Given the description of an element on the screen output the (x, y) to click on. 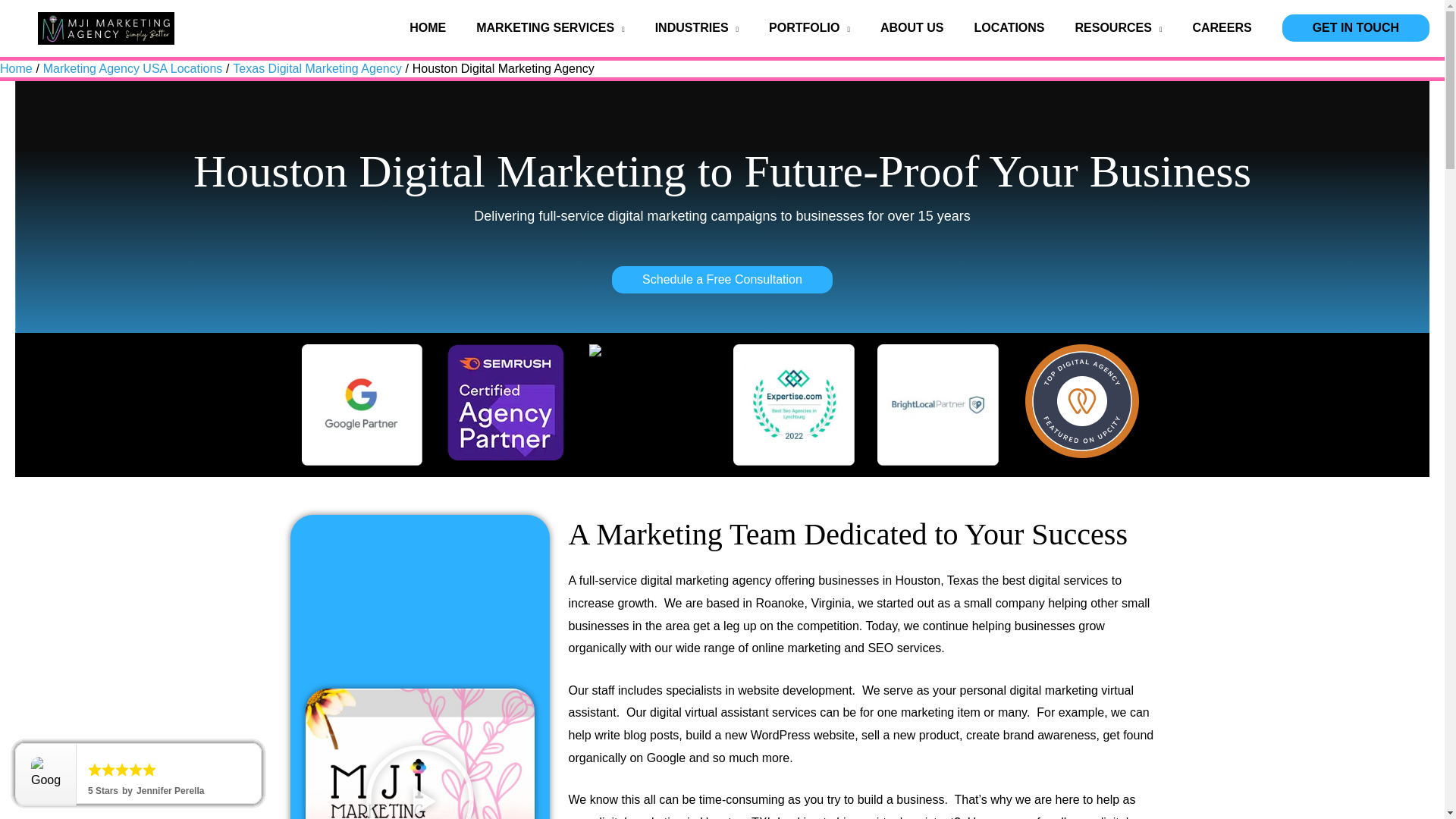
HOME (427, 28)
INDUSTRIES (697, 28)
MARKETING SERVICES (550, 28)
PORTFOLIO (809, 28)
CAREERS (1221, 28)
RESOURCES (1118, 28)
ABOUT US (911, 28)
LOCATIONS (1008, 28)
